Given the description of an element on the screen output the (x, y) to click on. 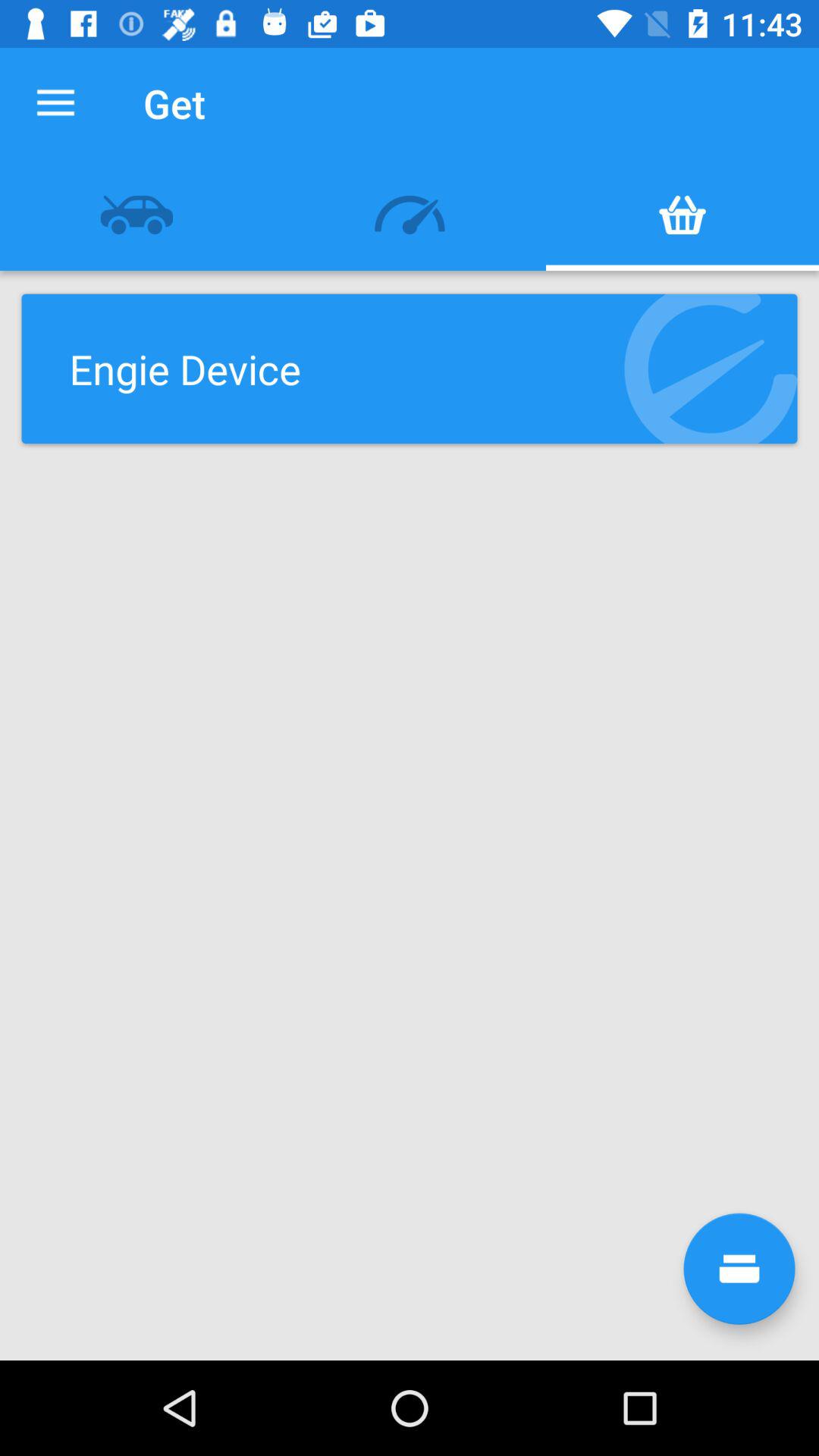
open the item at the bottom right corner (739, 1268)
